Given the description of an element on the screen output the (x, y) to click on. 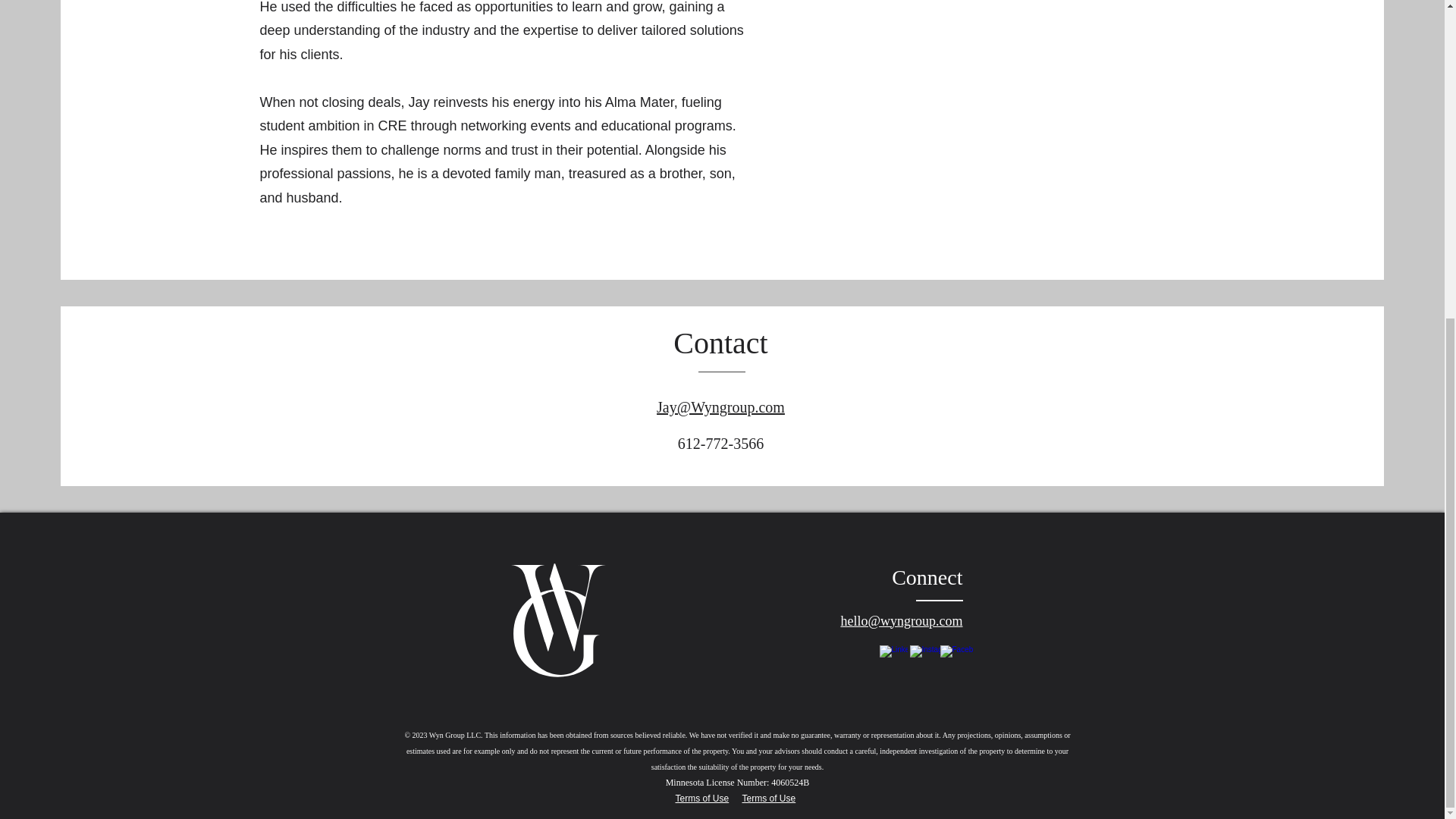
Terms of Use (767, 798)
Connect (926, 576)
Contact (719, 342)
Terms of Use (702, 798)
